Given the description of an element on the screen output the (x, y) to click on. 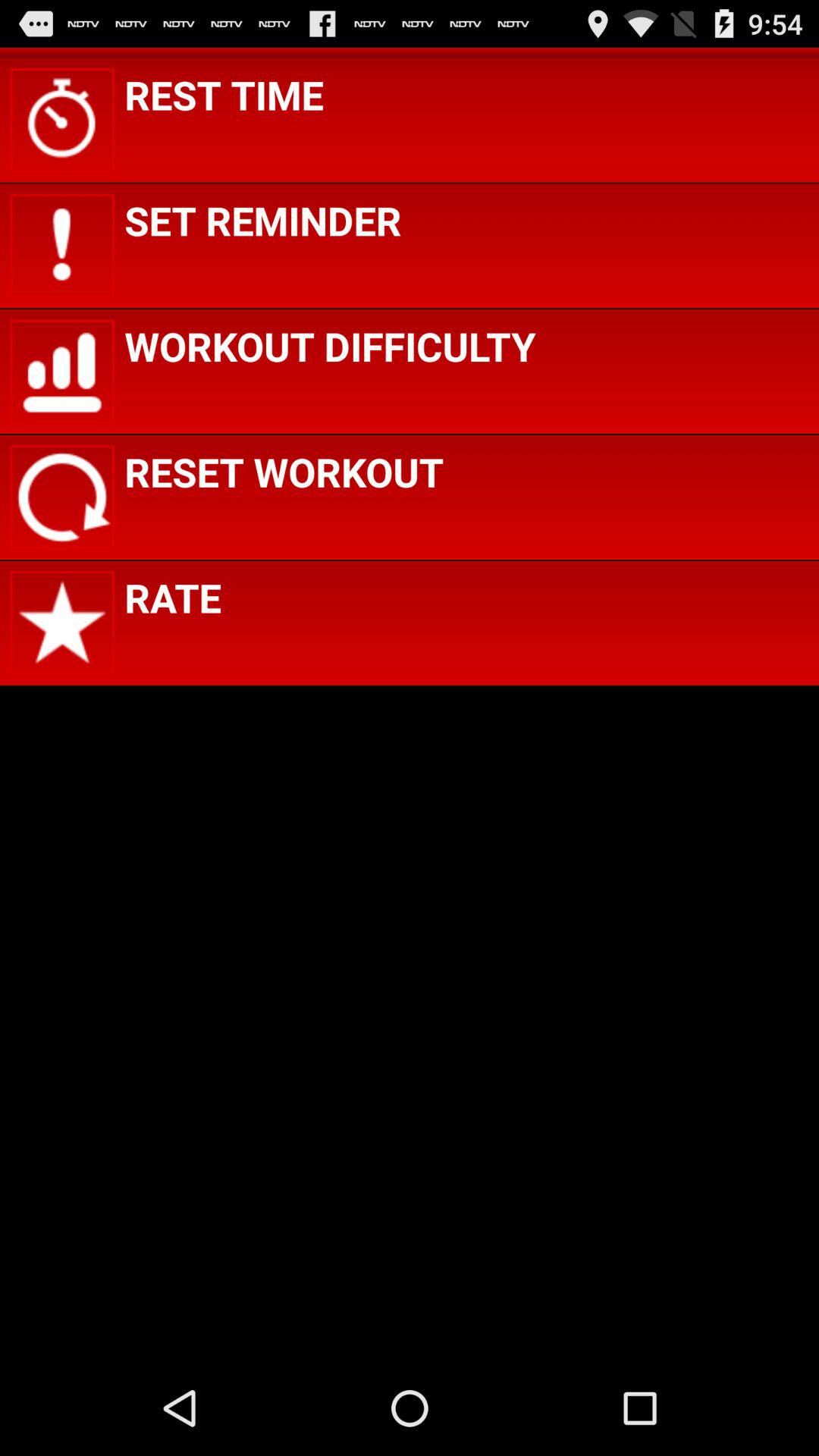
flip to reset workout app (283, 471)
